Given the description of an element on the screen output the (x, y) to click on. 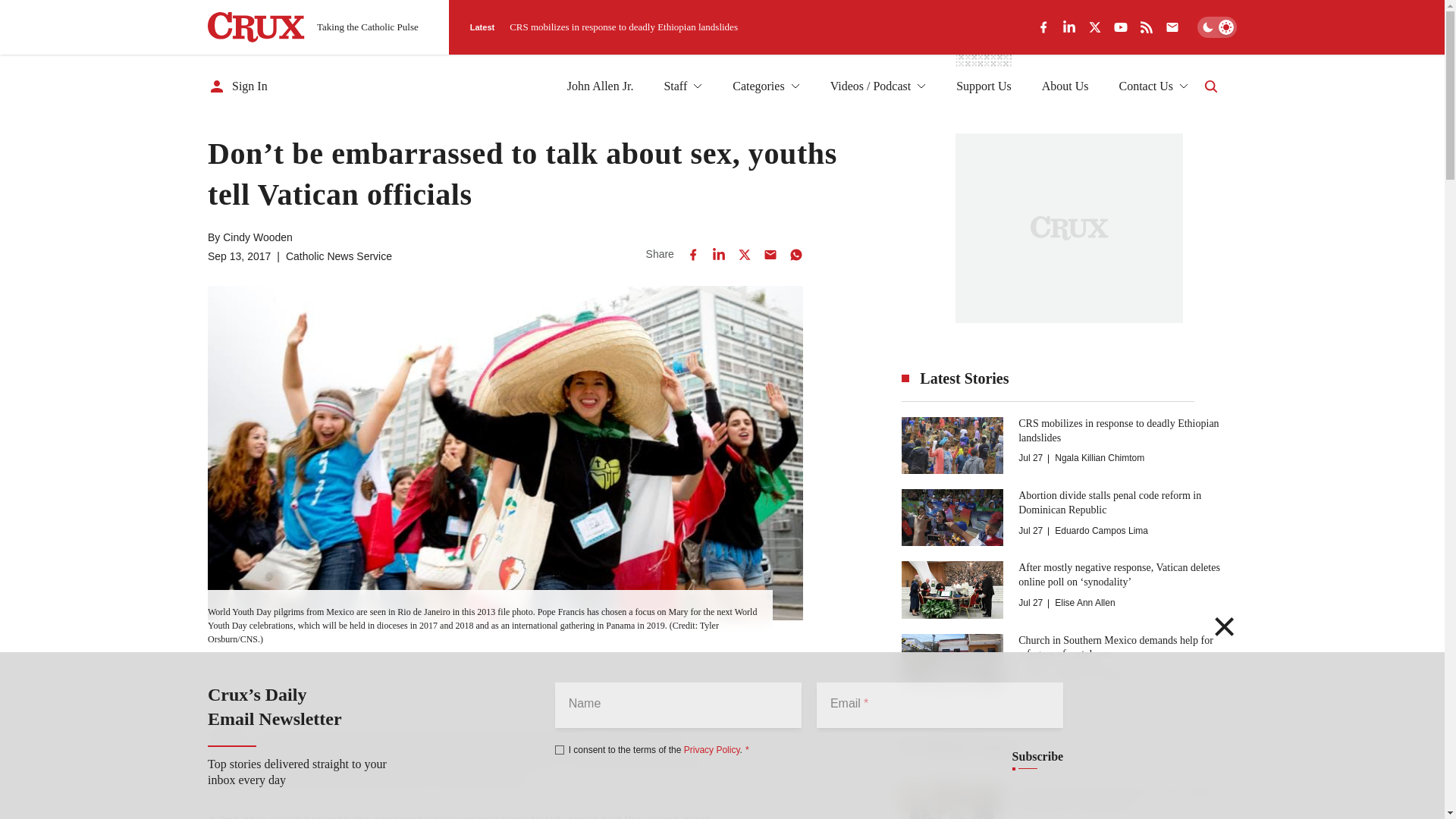
Sign In (237, 85)
Categories (765, 85)
CRS mobilizes in response to deadly Ethiopian landslides (623, 27)
Staff (682, 85)
true (559, 749)
Support Us (983, 85)
John Allen Jr. (600, 85)
Privacy Policy (711, 749)
Subscribe (1037, 756)
